Given the description of an element on the screen output the (x, y) to click on. 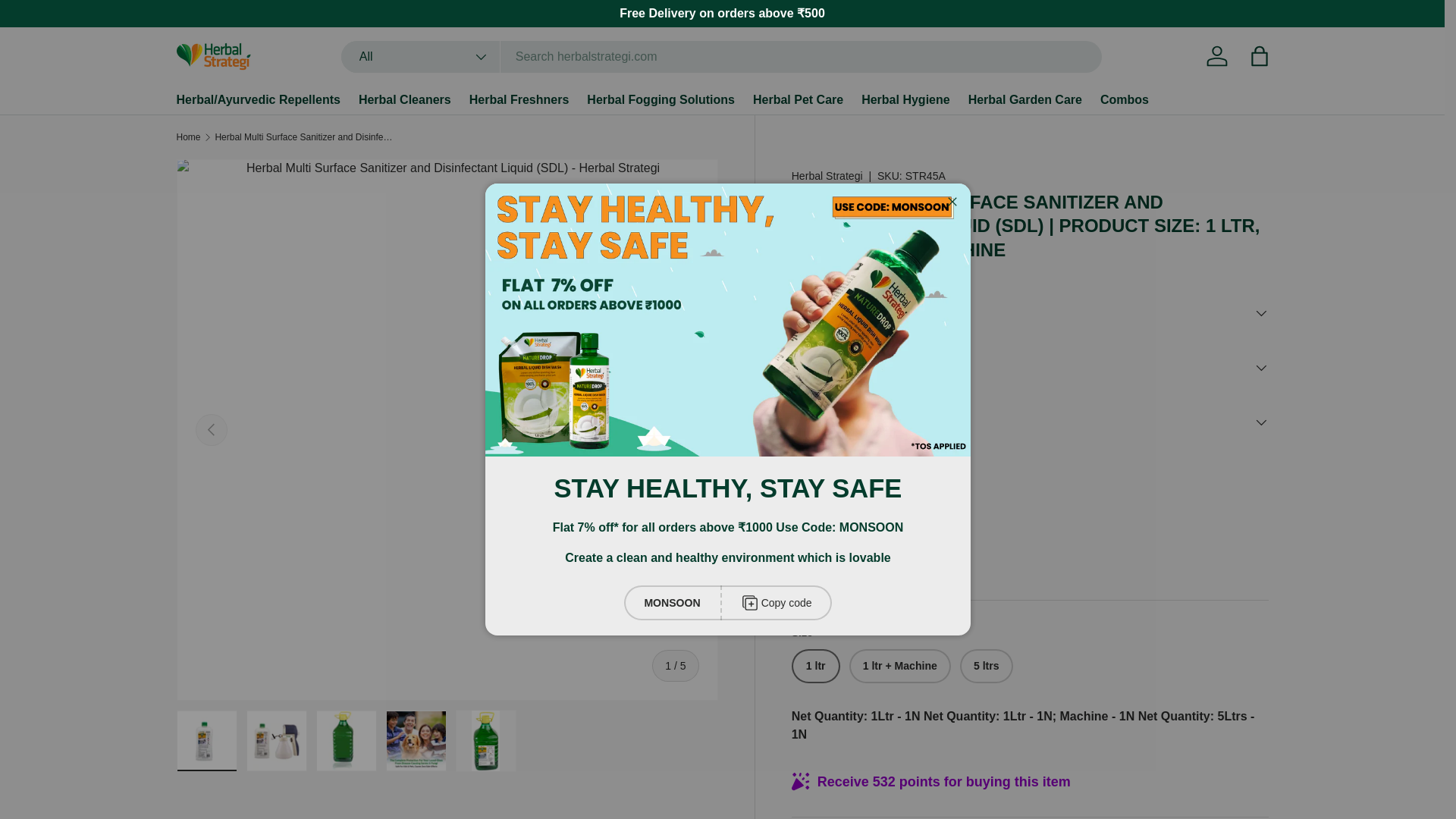
Shipping (812, 550)
Herbal Fogging Solutions (660, 99)
Previous (211, 429)
Bag (1258, 55)
Load image 2 in gallery view (275, 741)
Herbal Garden Care (1024, 99)
Herbal Freshners (518, 99)
Load image 1 in gallery view (205, 741)
Log in (1216, 55)
Load image 5 in gallery view (484, 741)
Herbal Cleaners (404, 99)
Herbal Strategi (827, 175)
Load image 3 in gallery view (345, 741)
